Given the description of an element on the screen output the (x, y) to click on. 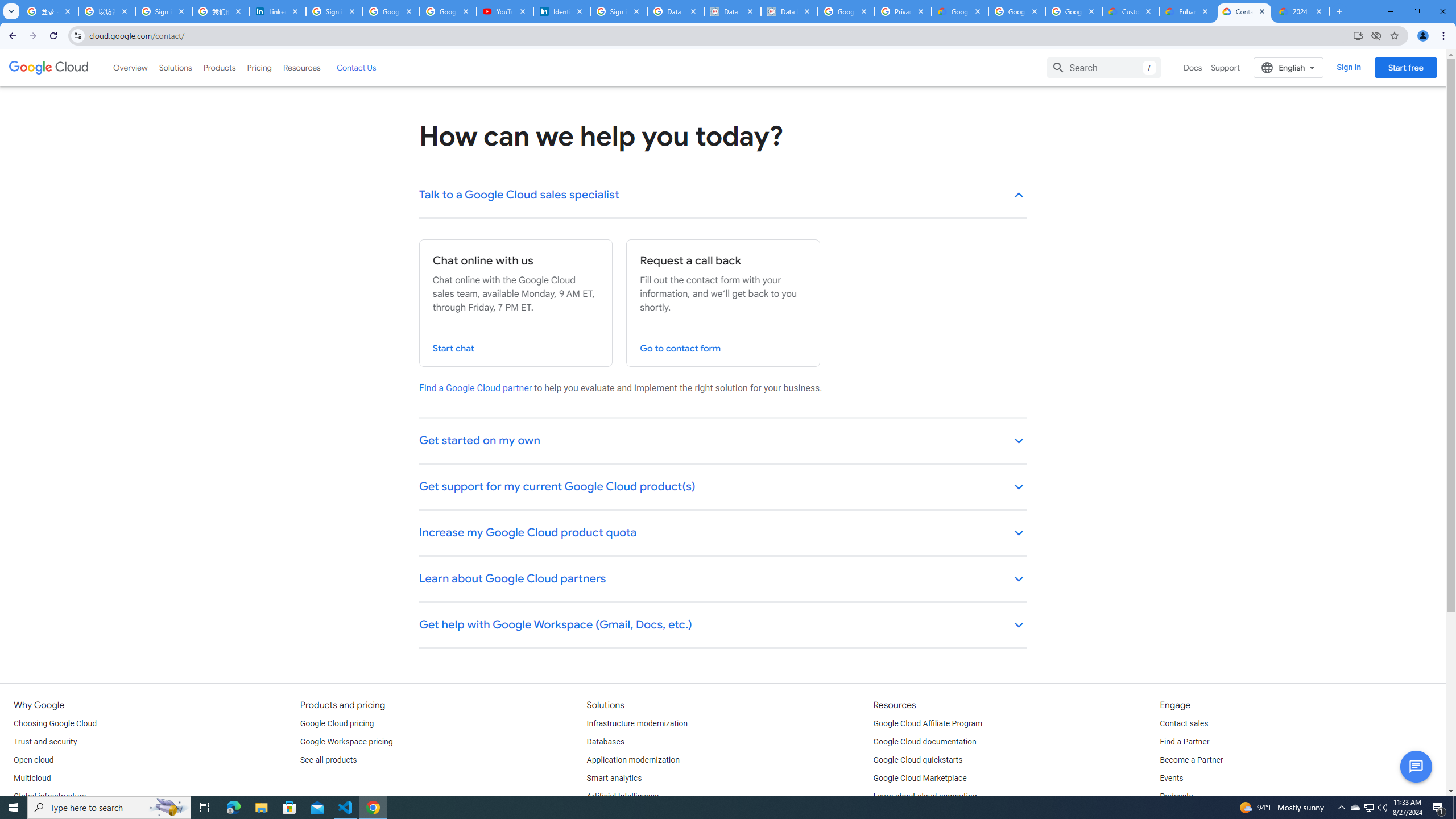
Smart analytics (614, 778)
Become a Partner (1190, 760)
Button to activate chat (1416, 766)
Open cloud (33, 760)
Artificial Intelligence (622, 796)
Podcasts (1175, 796)
Customer Care | Google Cloud (1130, 11)
Sign in - Google Accounts (334, 11)
